Given the description of an element on the screen output the (x, y) to click on. 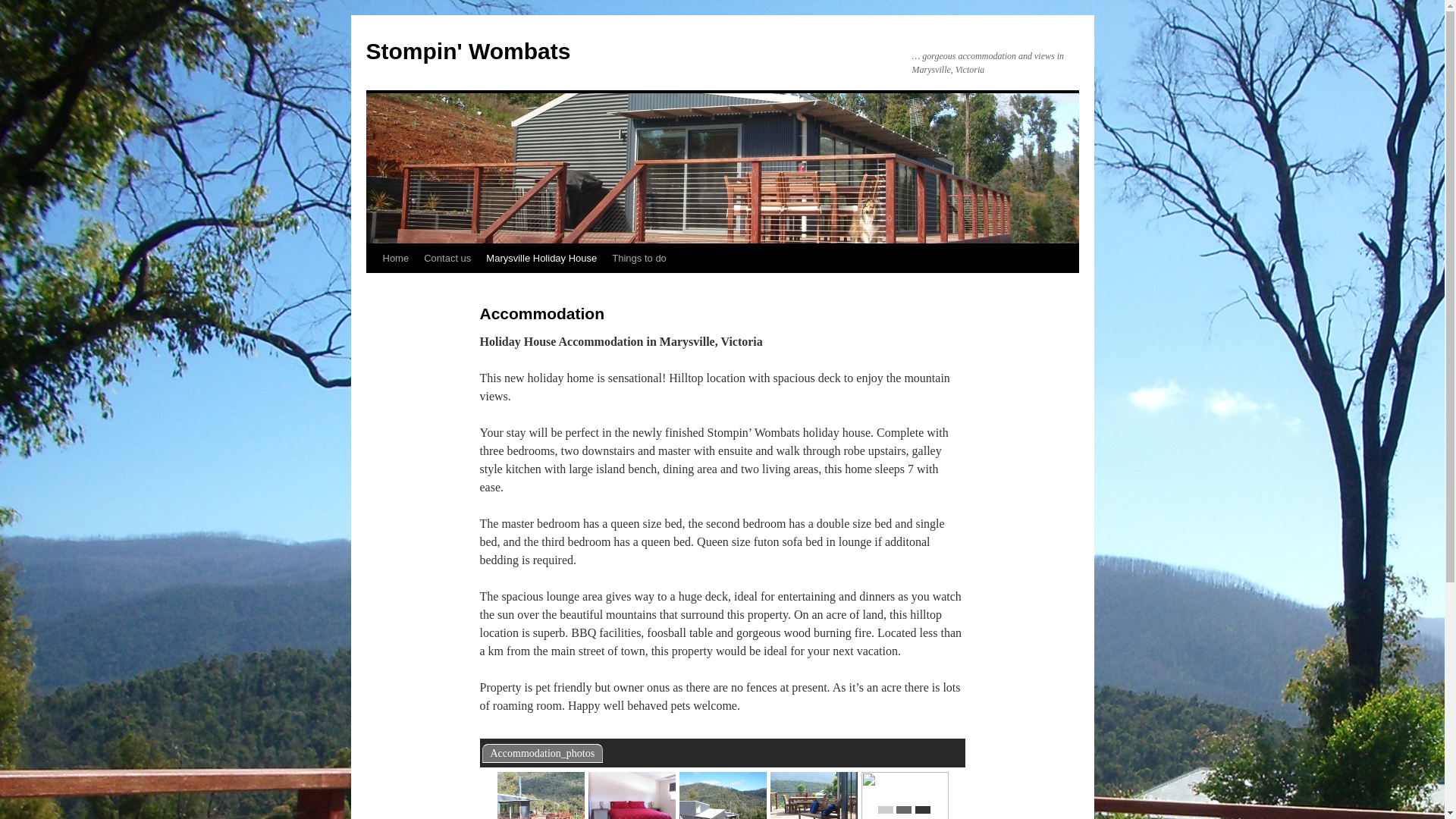
Contact us Element type: text (447, 258)
Home Element type: text (395, 258)
Stompin' Wombats Element type: text (467, 50)
Marysville Holiday House Element type: text (541, 258)
Things to do Element type: text (639, 258)
Accommodation_photos Element type: text (542, 752)
